Given the description of an element on the screen output the (x, y) to click on. 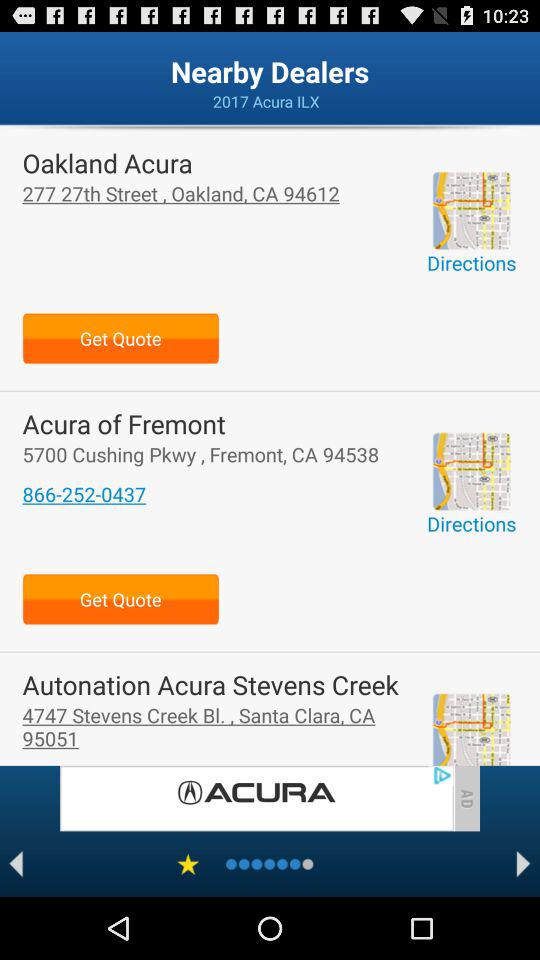
search directions (471, 471)
